Given the description of an element on the screen output the (x, y) to click on. 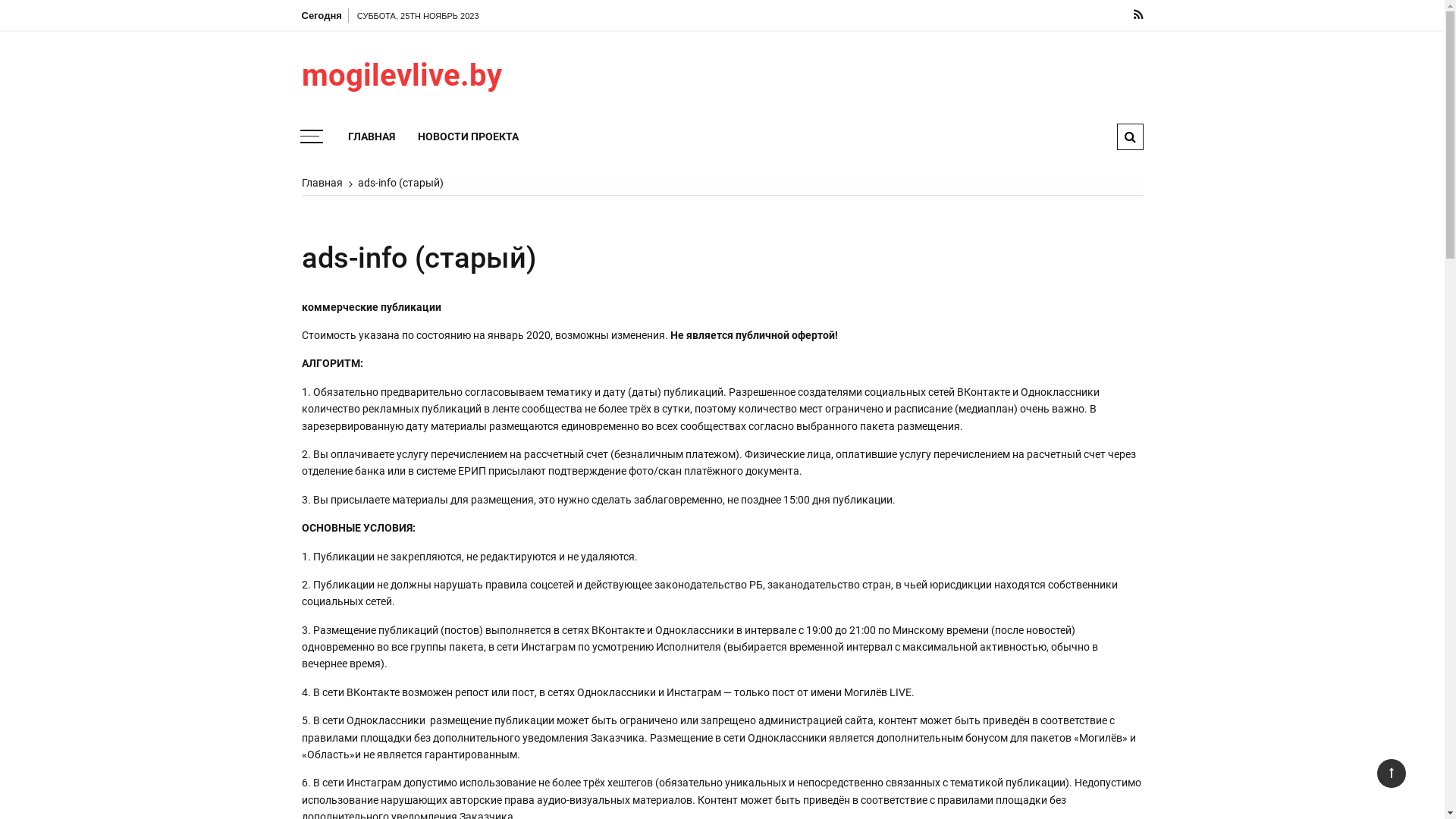
mogilevlive.by Element type: text (434, 75)
